Given the description of an element on the screen output the (x, y) to click on. 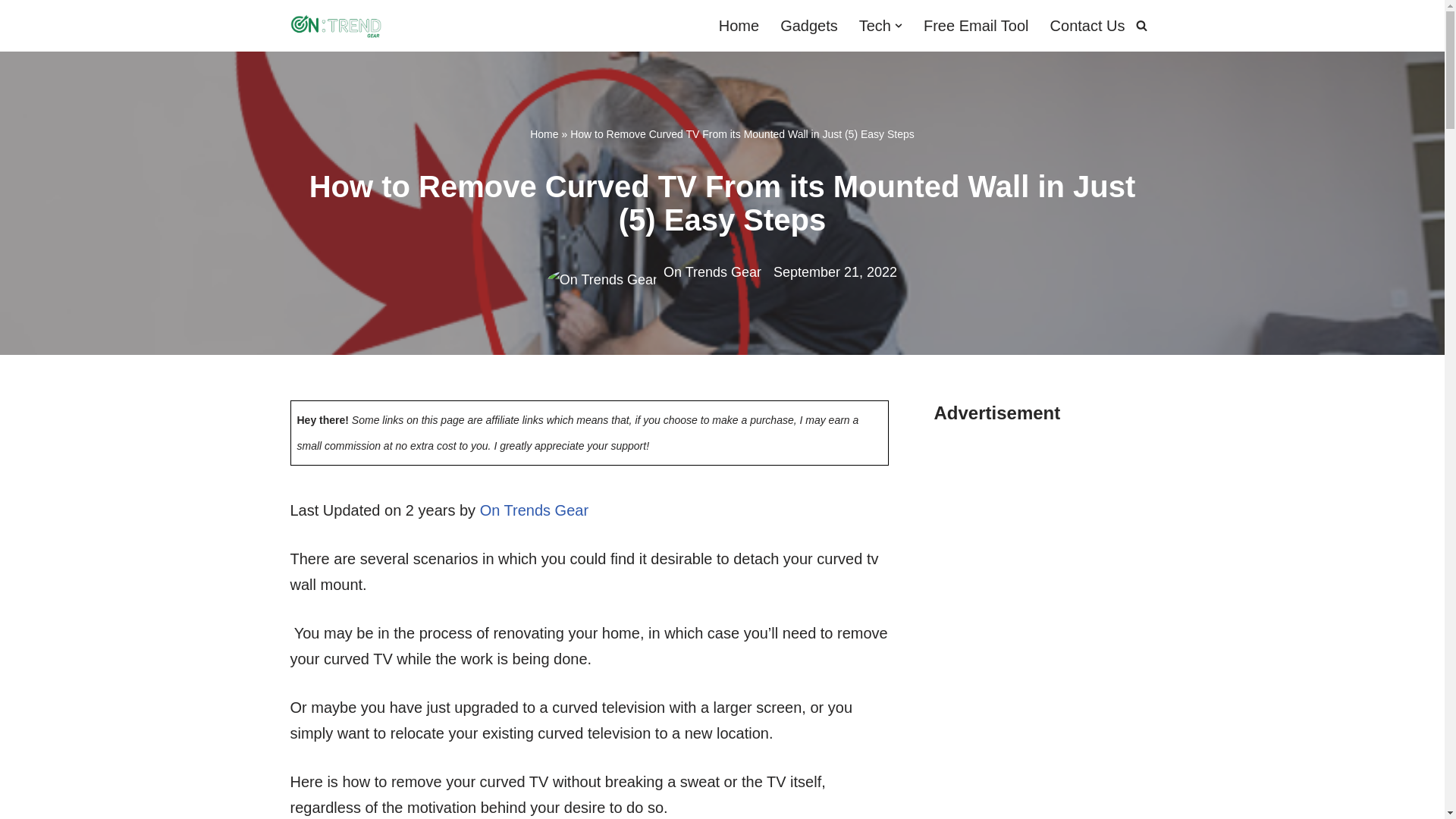
On Trends Gear (534, 510)
Skip to content (11, 31)
Posts by On Trends Gear (712, 272)
Home (738, 25)
Home (543, 133)
On Trends Gear (712, 272)
Contact Us (1087, 25)
Gadgets (809, 25)
Free Email Tool (976, 25)
Tech (875, 25)
